Given the description of an element on the screen output the (x, y) to click on. 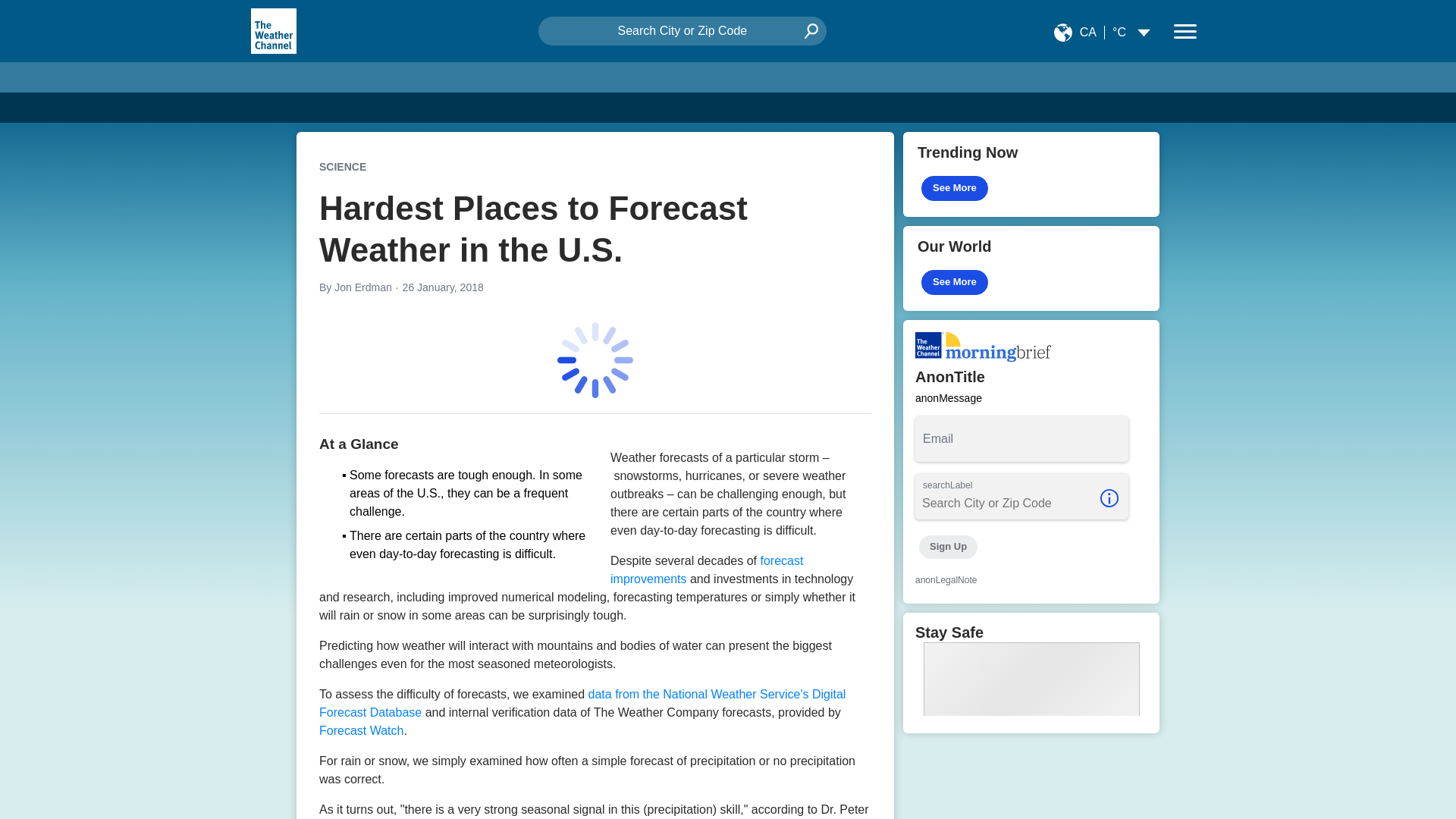
See More (954, 282)
The Weather Channel (273, 31)
Forecast Watch (360, 730)
Our World (1030, 268)
See More (954, 188)
The Weather Channel (273, 30)
Stay Safe (1030, 672)
forecast improvements (706, 569)
Trending Now (1030, 174)
